Given the description of an element on the screen output the (x, y) to click on. 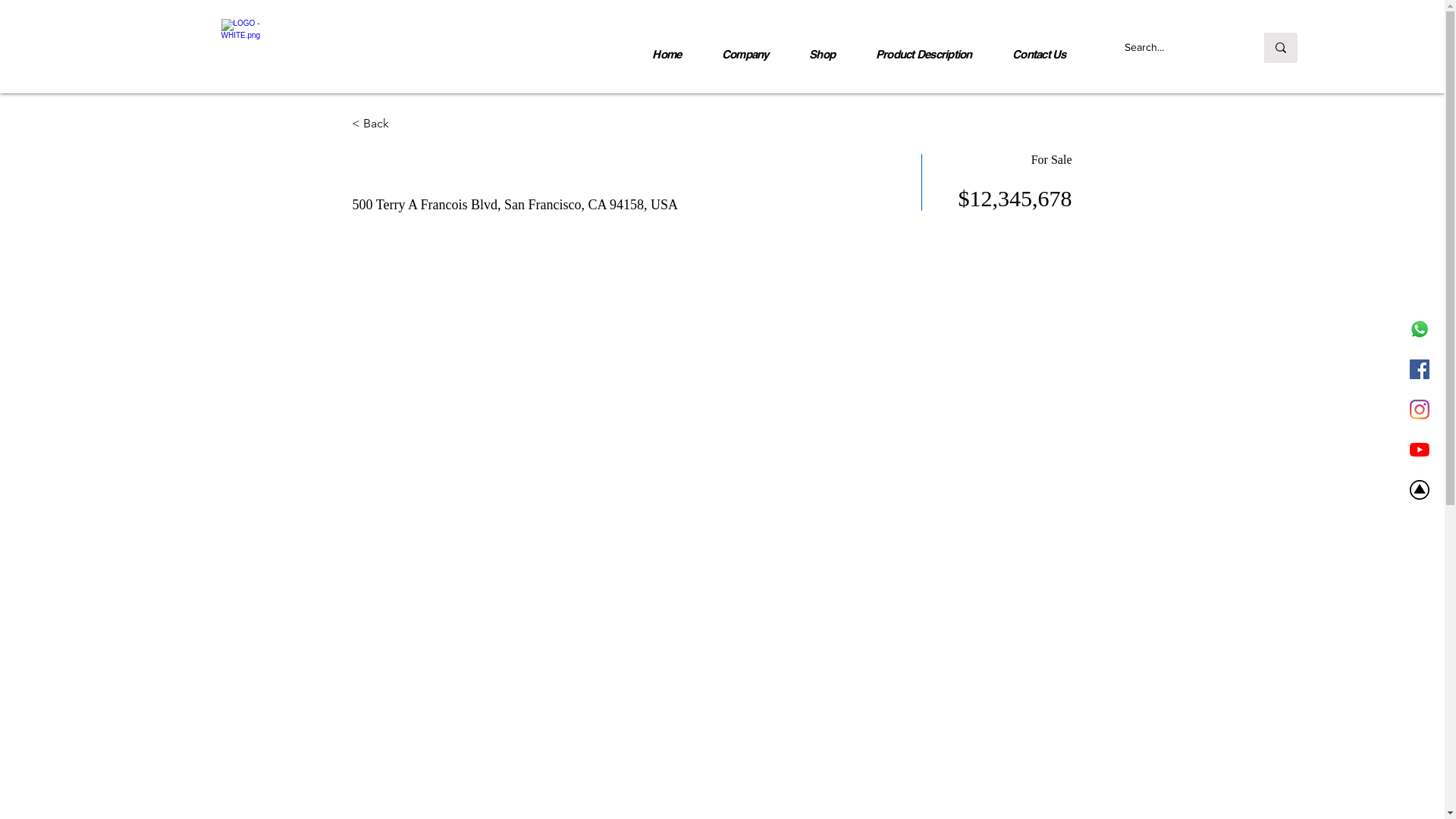
Shop Element type: text (821, 53)
Home Element type: text (667, 53)
Contact Us Element type: text (1038, 53)
< Back Element type: text (405, 123)
